Given the description of an element on the screen output the (x, y) to click on. 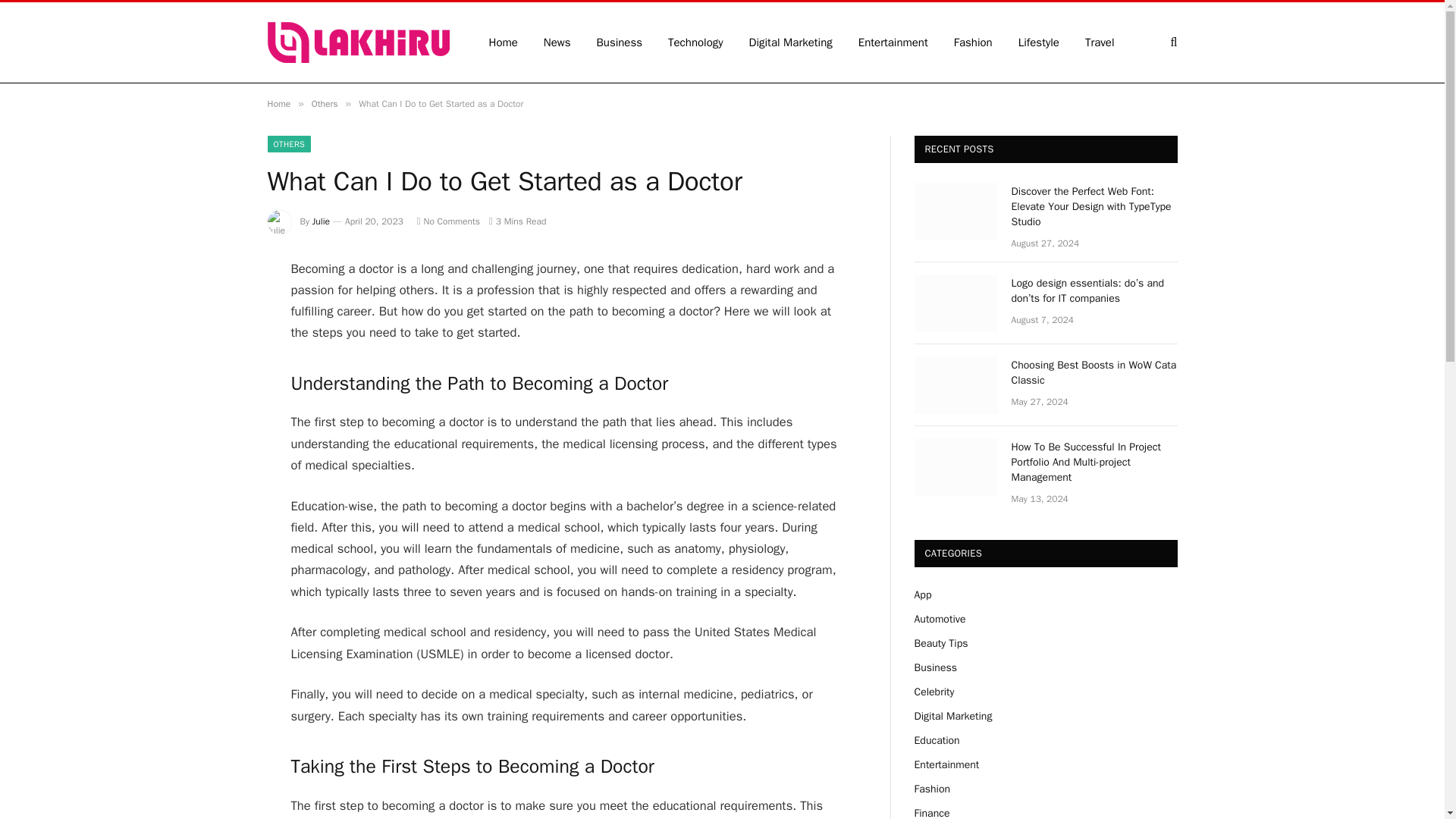
Home (277, 103)
OTHERS (288, 143)
Technology (695, 42)
Posts by Julie (321, 221)
App (922, 594)
No Comments (448, 221)
Julie (321, 221)
